Given the description of an element on the screen output the (x, y) to click on. 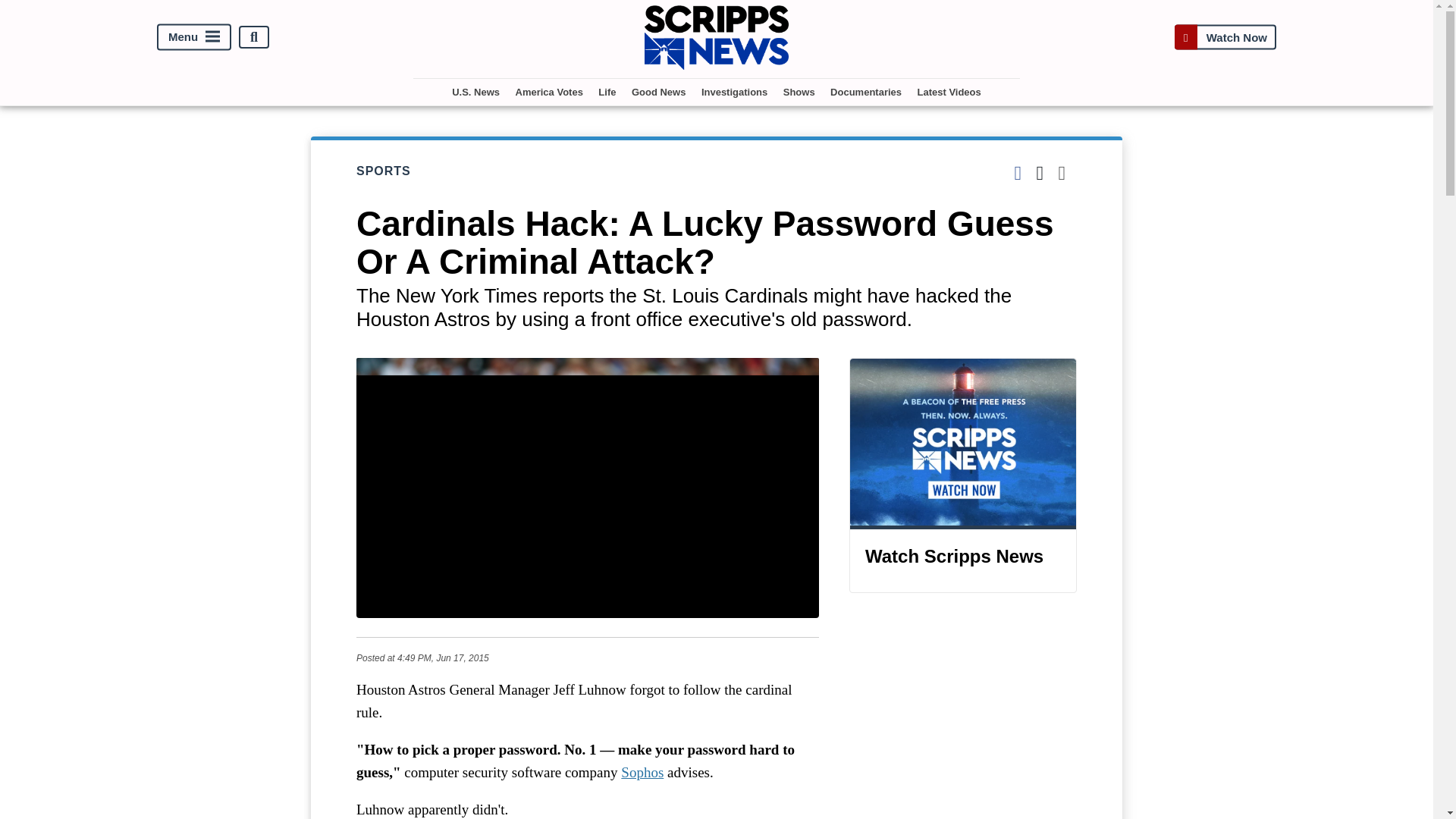
Watch Now (1224, 37)
Menu (194, 37)
